Given the description of an element on the screen output the (x, y) to click on. 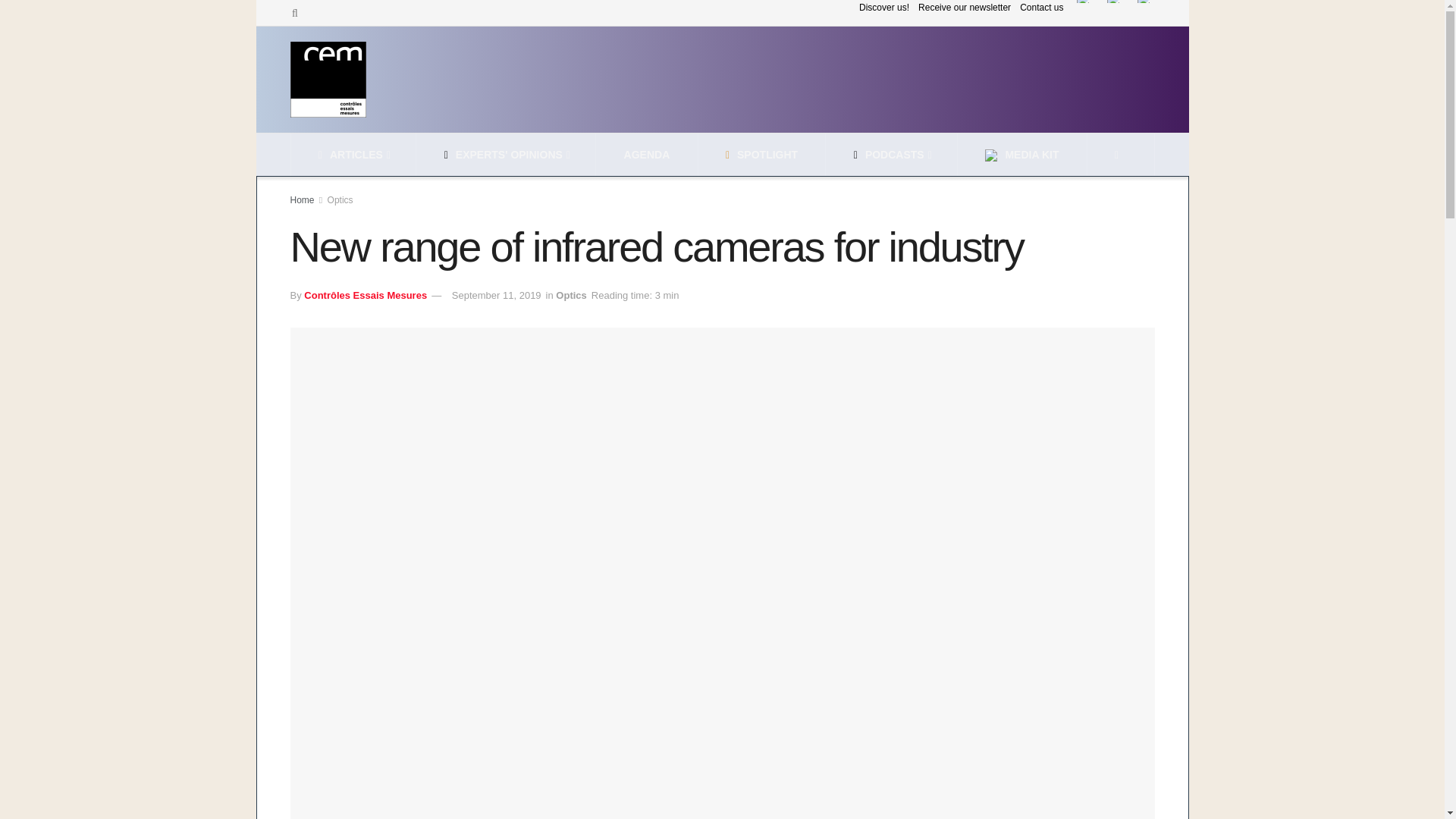
EXPERTS' OPINIONS (505, 154)
Deutsch (1144, 1)
Discover us! (883, 9)
Receive our newsletter (964, 9)
English (1113, 1)
Contact us (1041, 9)
SPOTLIGHT (761, 154)
AGENDA (646, 154)
ARTICLES (353, 154)
